Given the description of an element on the screen output the (x, y) to click on. 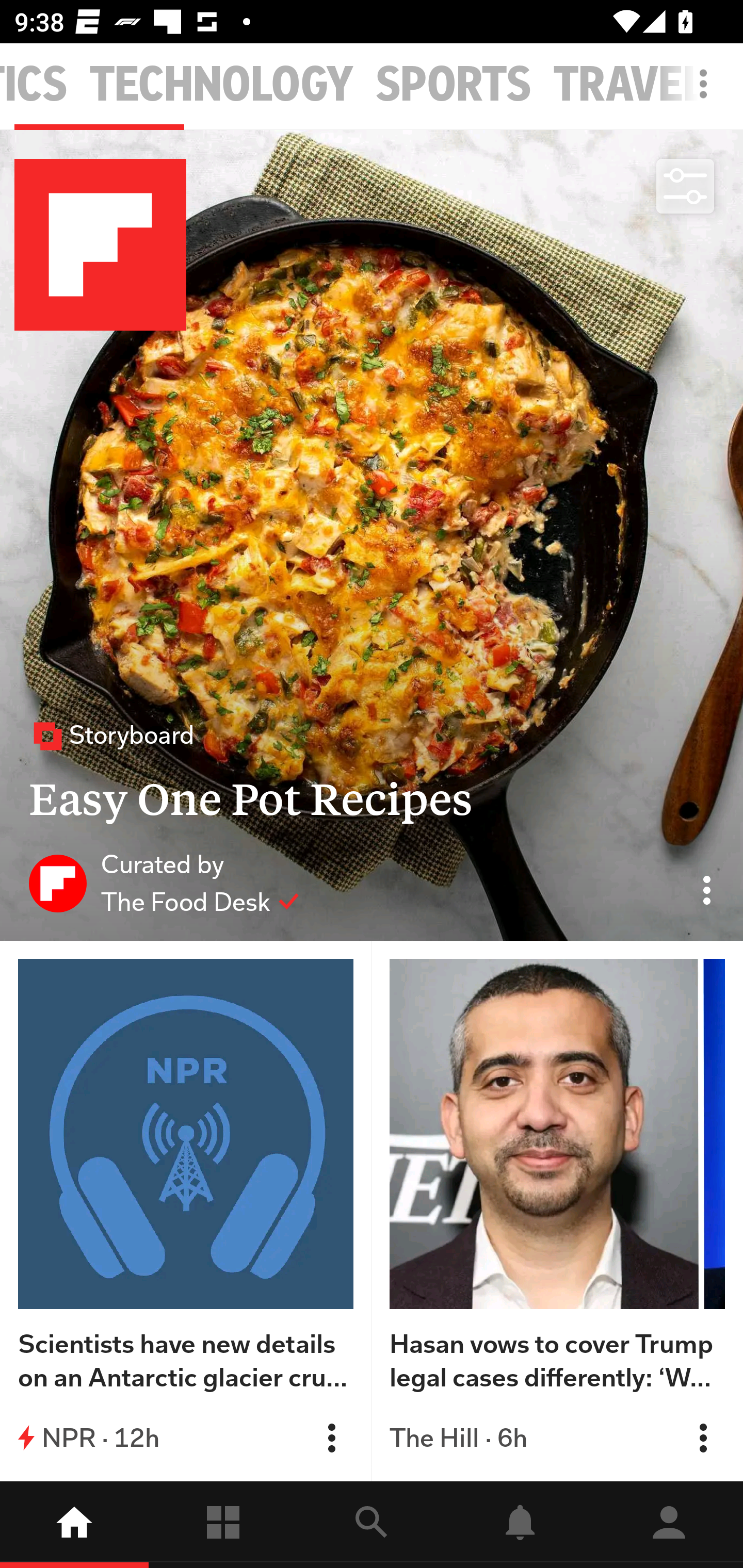
TECHNOLOGY (221, 84)
SPORTS (453, 84)
TRAVEL (629, 84)
More options (706, 93)
Curated by The Food Desk (163, 882)
NPR · 12h Flip into Magazine (185, 1437)
The Hill · 6h Flip into Magazine (557, 1437)
Flip into Magazine (331, 1437)
Flip into Magazine (703, 1437)
home (74, 1524)
Following (222, 1524)
explore (371, 1524)
Notifications (519, 1524)
Profile (668, 1524)
